Given the description of an element on the screen output the (x, y) to click on. 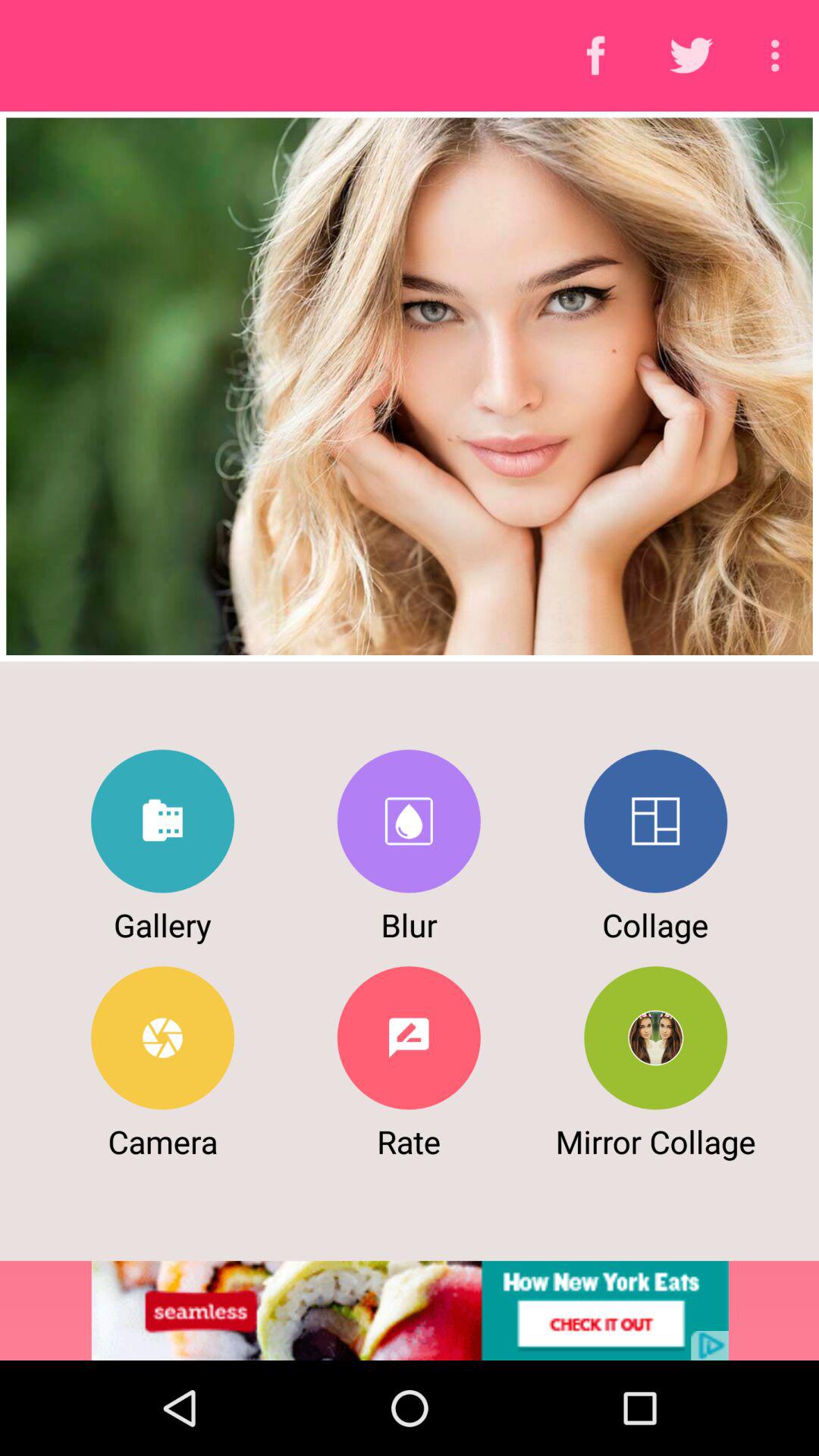
blur image (408, 820)
